Given the description of an element on the screen output the (x, y) to click on. 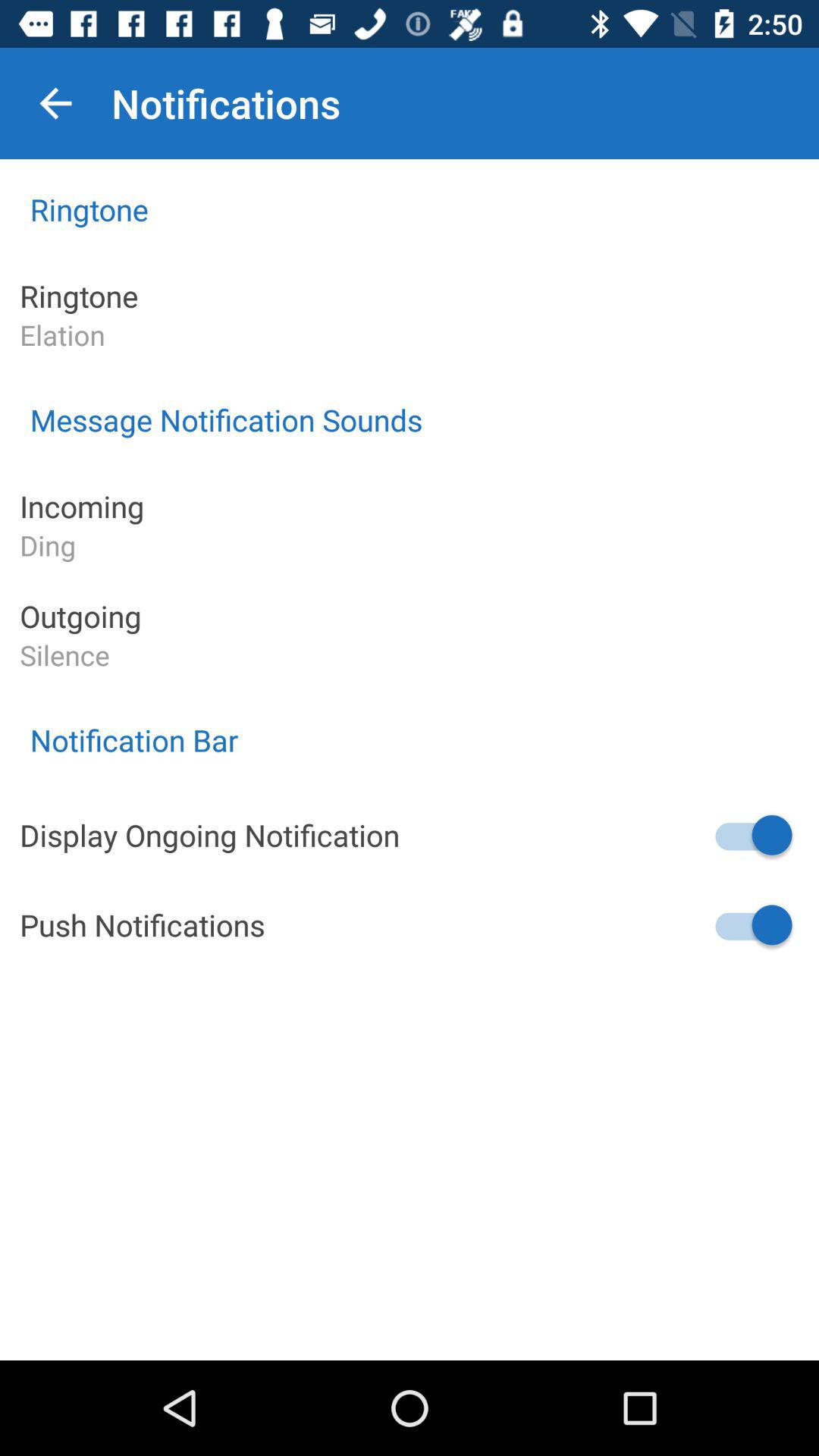
display ongoing notification (751, 835)
